Given the description of an element on the screen output the (x, y) to click on. 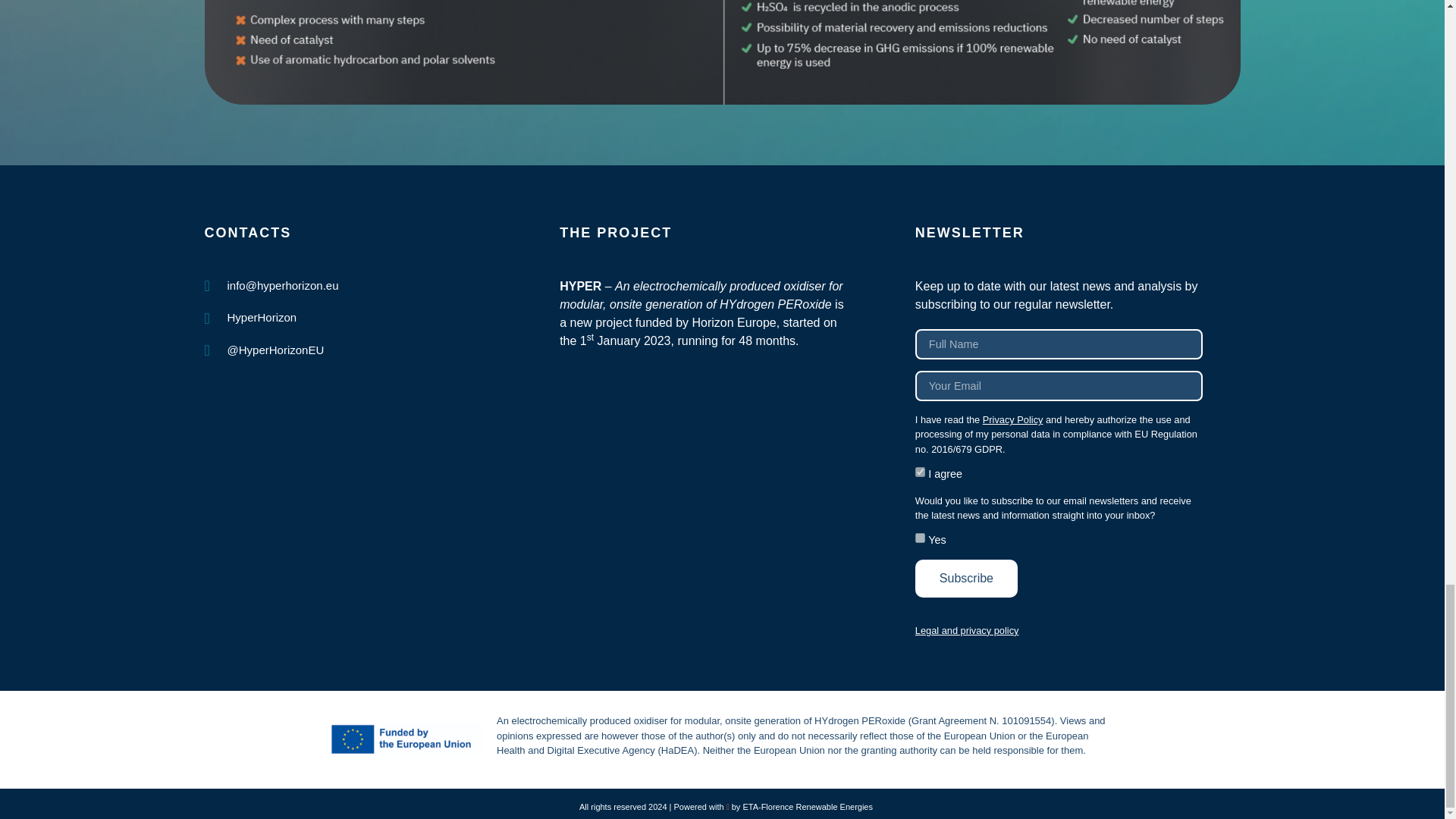
Subscribe (966, 578)
HyperHorizon (272, 317)
Legal and privacy policy (967, 630)
on (919, 471)
Yes (919, 537)
Privacy Policy (1012, 419)
ETA-Florence Renewable Energies (807, 806)
